Given the description of an element on the screen output the (x, y) to click on. 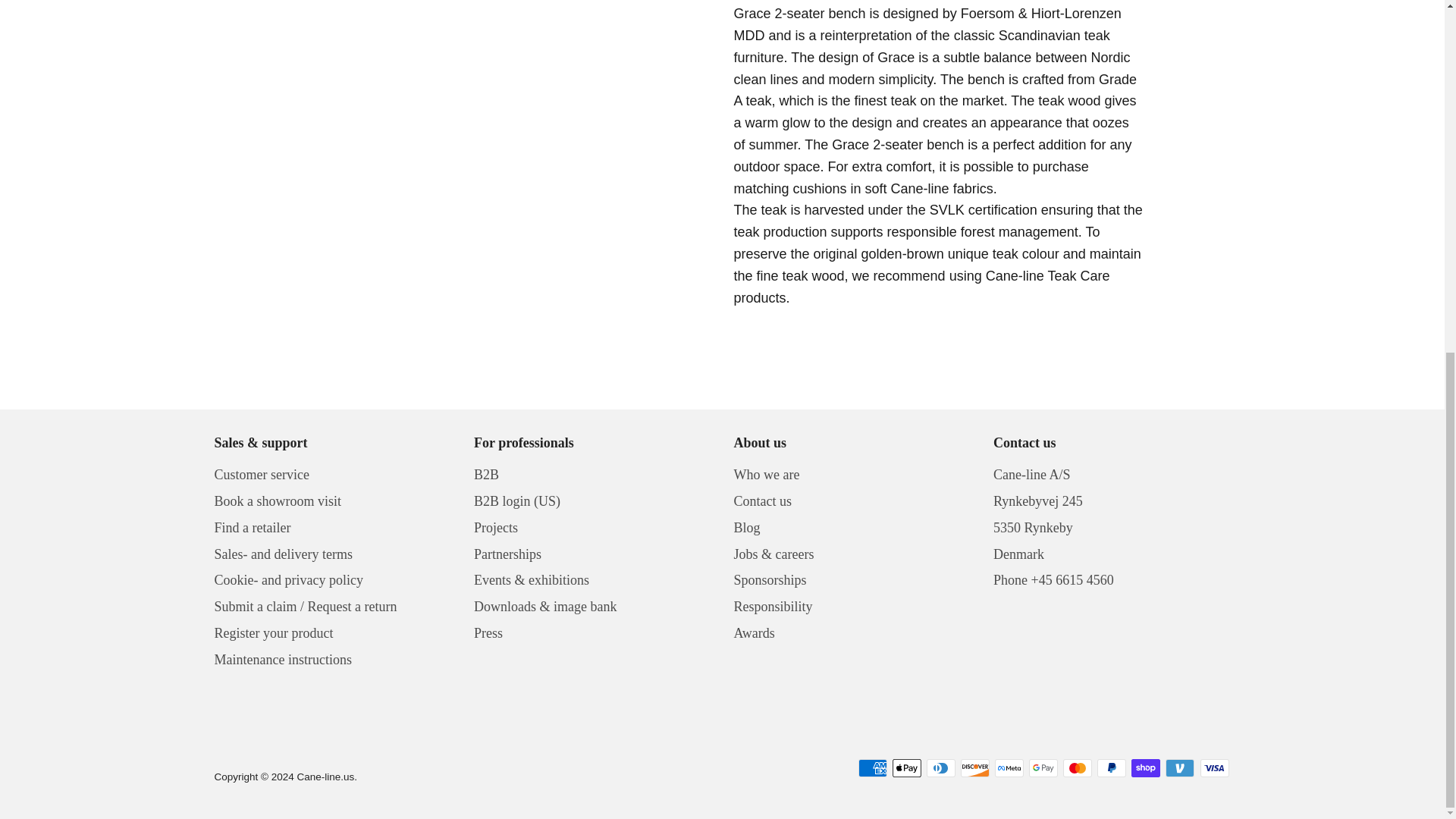
Apple Pay (906, 768)
Shop Pay (1145, 768)
Diners Club (940, 768)
Venmo (1179, 768)
Mastercard (1077, 768)
Meta Pay (1008, 768)
Discover (975, 768)
American Express (872, 768)
Visa (1213, 768)
PayPal (1111, 768)
Google Pay (1043, 768)
